Given the description of an element on the screen output the (x, y) to click on. 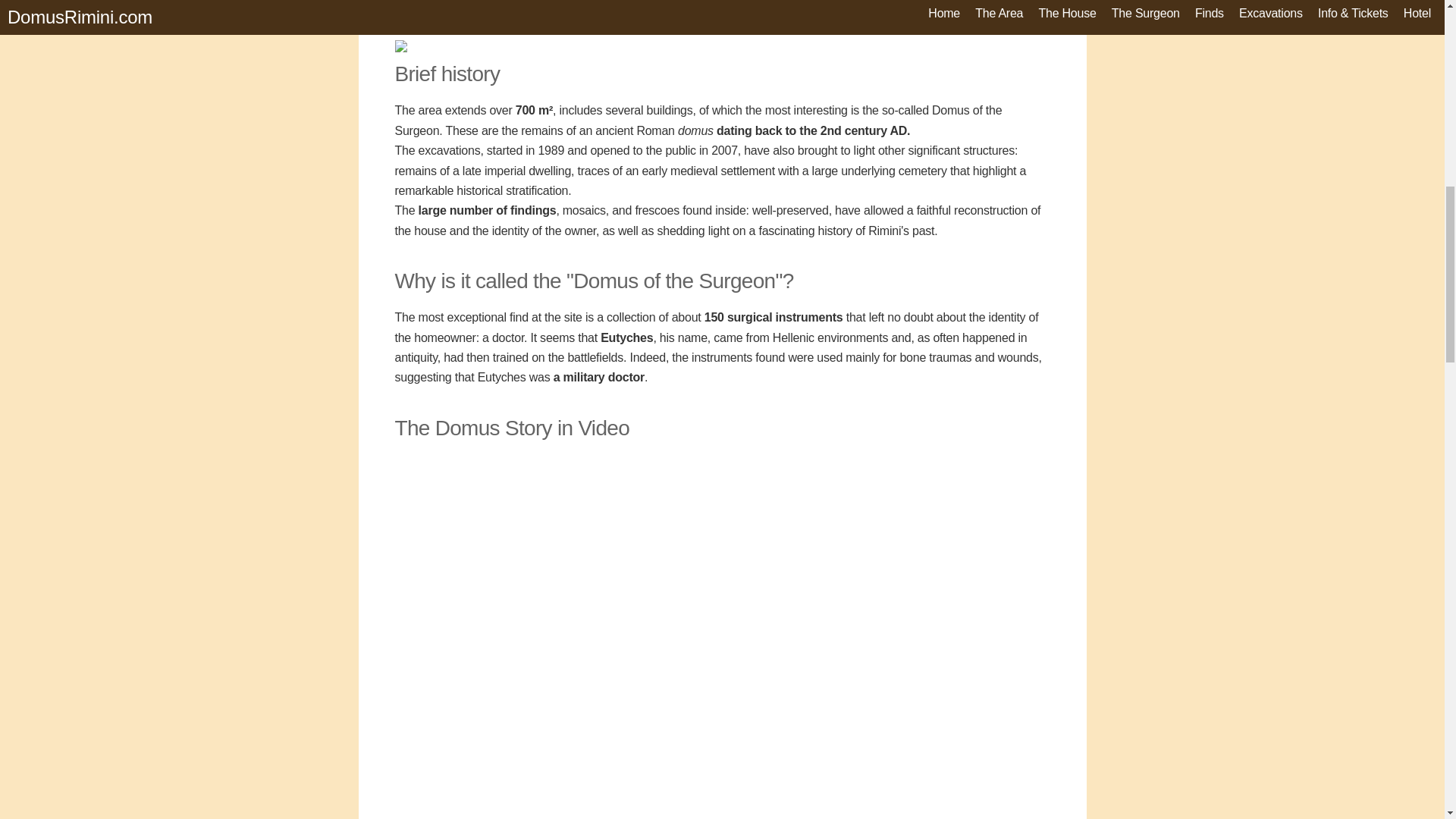
ticketlandia.com (483, 5)
